Given the description of an element on the screen output the (x, y) to click on. 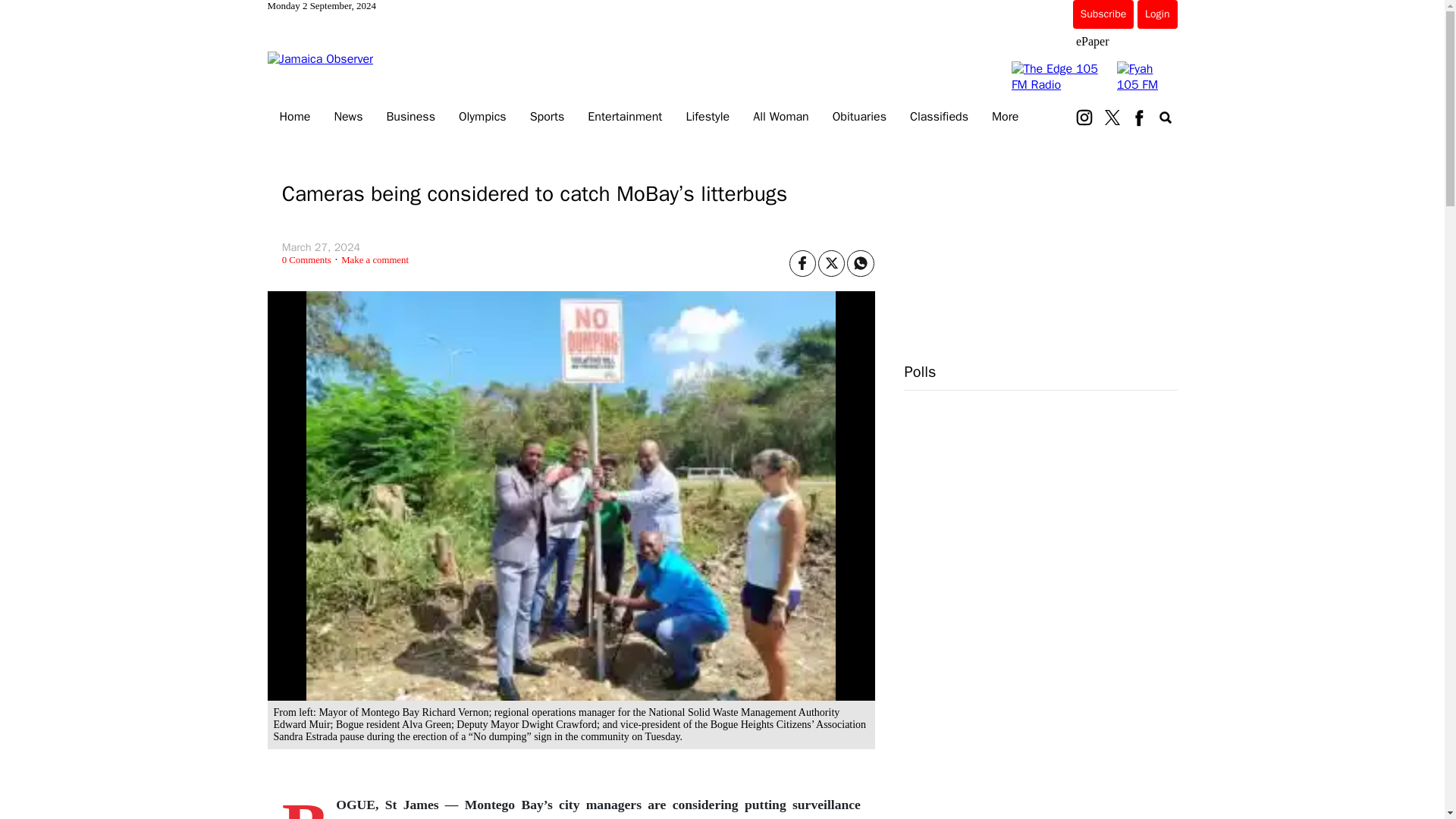
Login (1156, 14)
Subscribe (1103, 14)
ePaper (1092, 41)
